Given the description of an element on the screen output the (x, y) to click on. 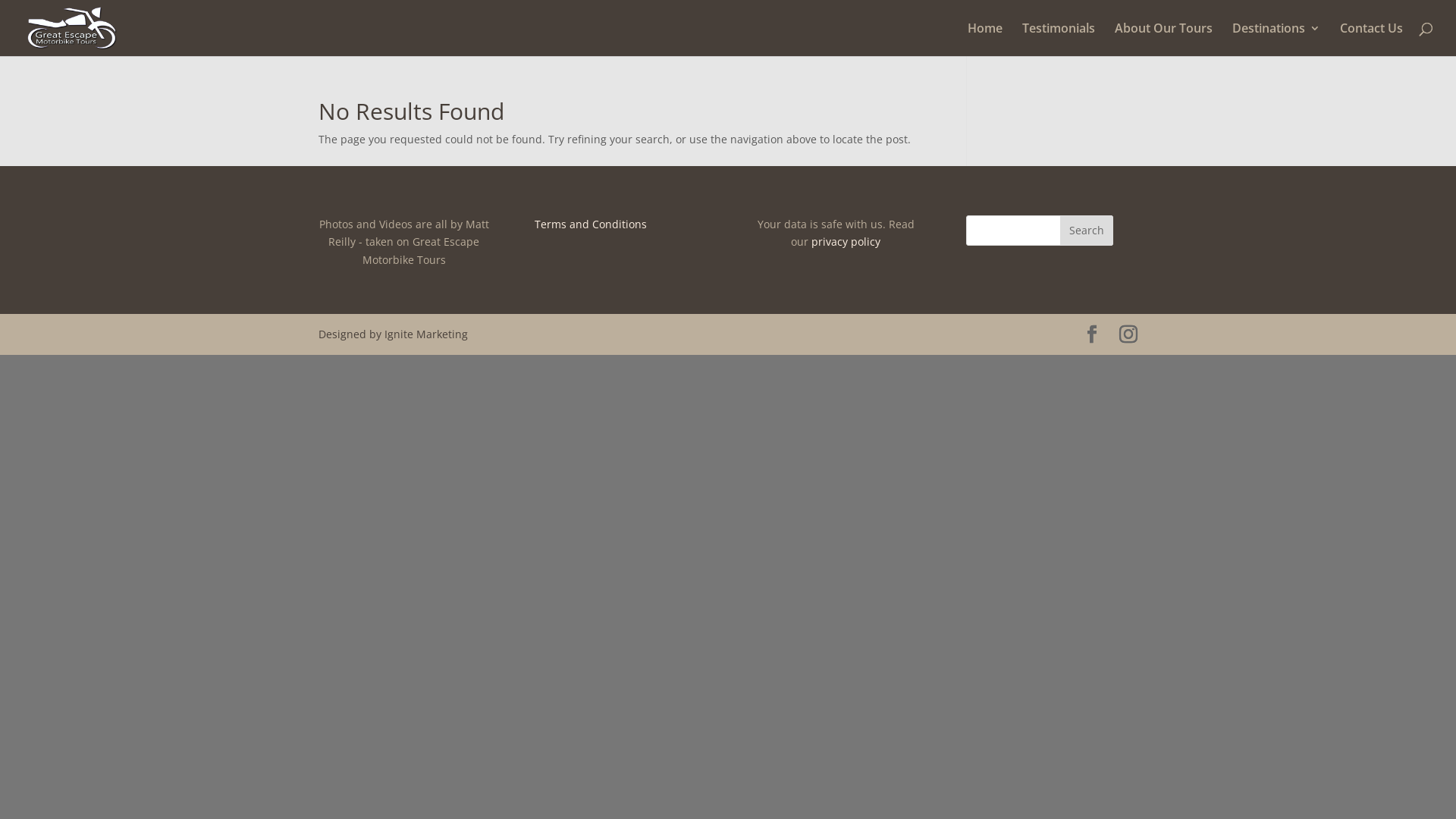
Home Element type: text (984, 39)
About Our Tours Element type: text (1163, 39)
privacy policy Element type: text (845, 241)
Search Element type: text (1086, 230)
Terms and Conditions Element type: text (590, 223)
Contact Us Element type: text (1370, 39)
Testimonials Element type: text (1058, 39)
Destinations Element type: text (1276, 39)
